Given the description of an element on the screen output the (x, y) to click on. 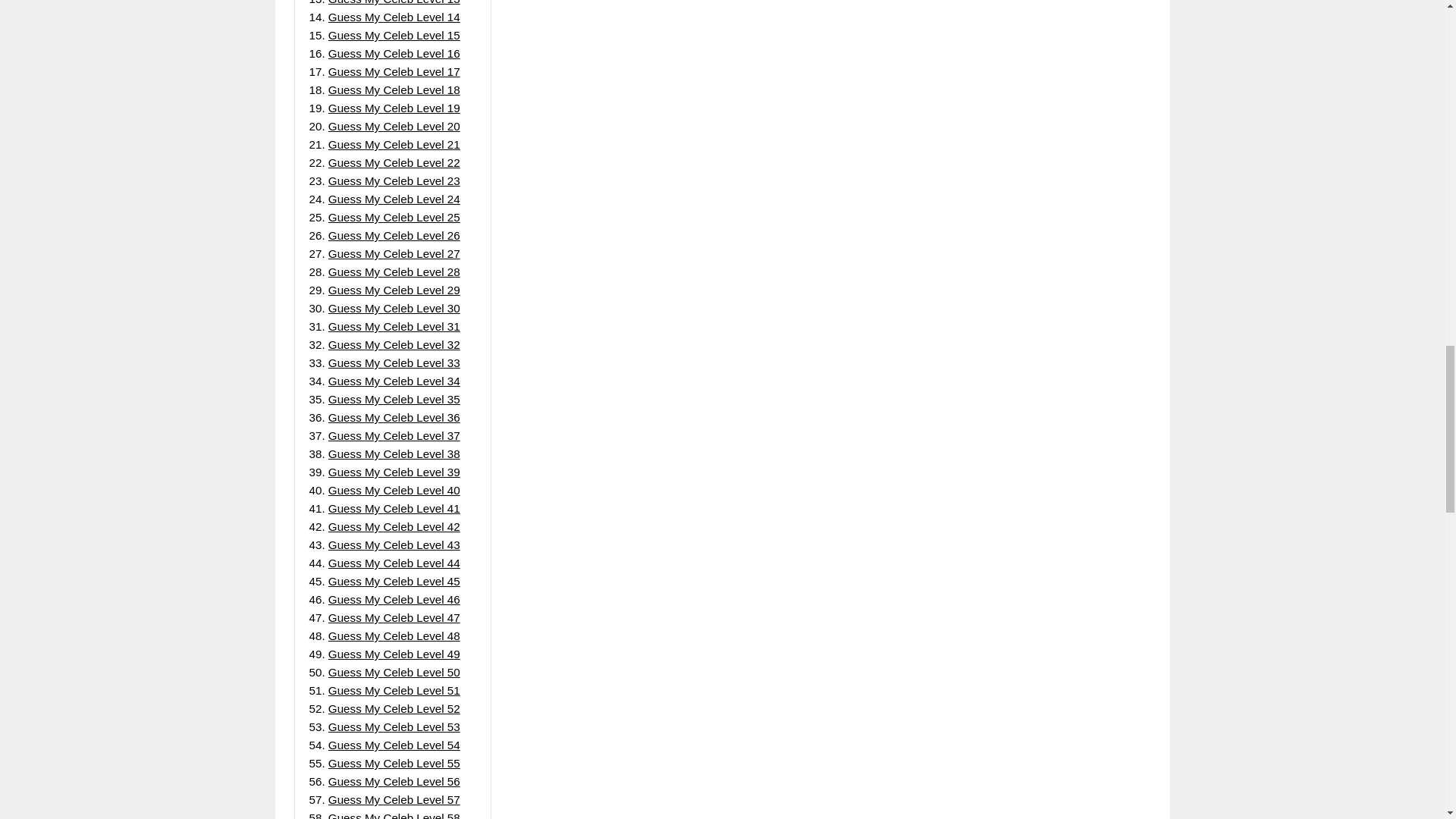
Guess My Celeb Level 18 (394, 89)
Guess My Celeb Level 23 (394, 180)
Guess My Celeb Level 16 (394, 52)
Guess My Celeb Level 27 (394, 253)
Guess My Celeb Level 24 (394, 198)
Guess My Celeb Level 20 (394, 125)
Guess My Celeb Level 25 (394, 216)
Guess My Celeb Level 19 (394, 107)
Guess My Celeb Level 21 (394, 144)
Guess My Celeb Level 14 (394, 16)
